Given the description of an element on the screen output the (x, y) to click on. 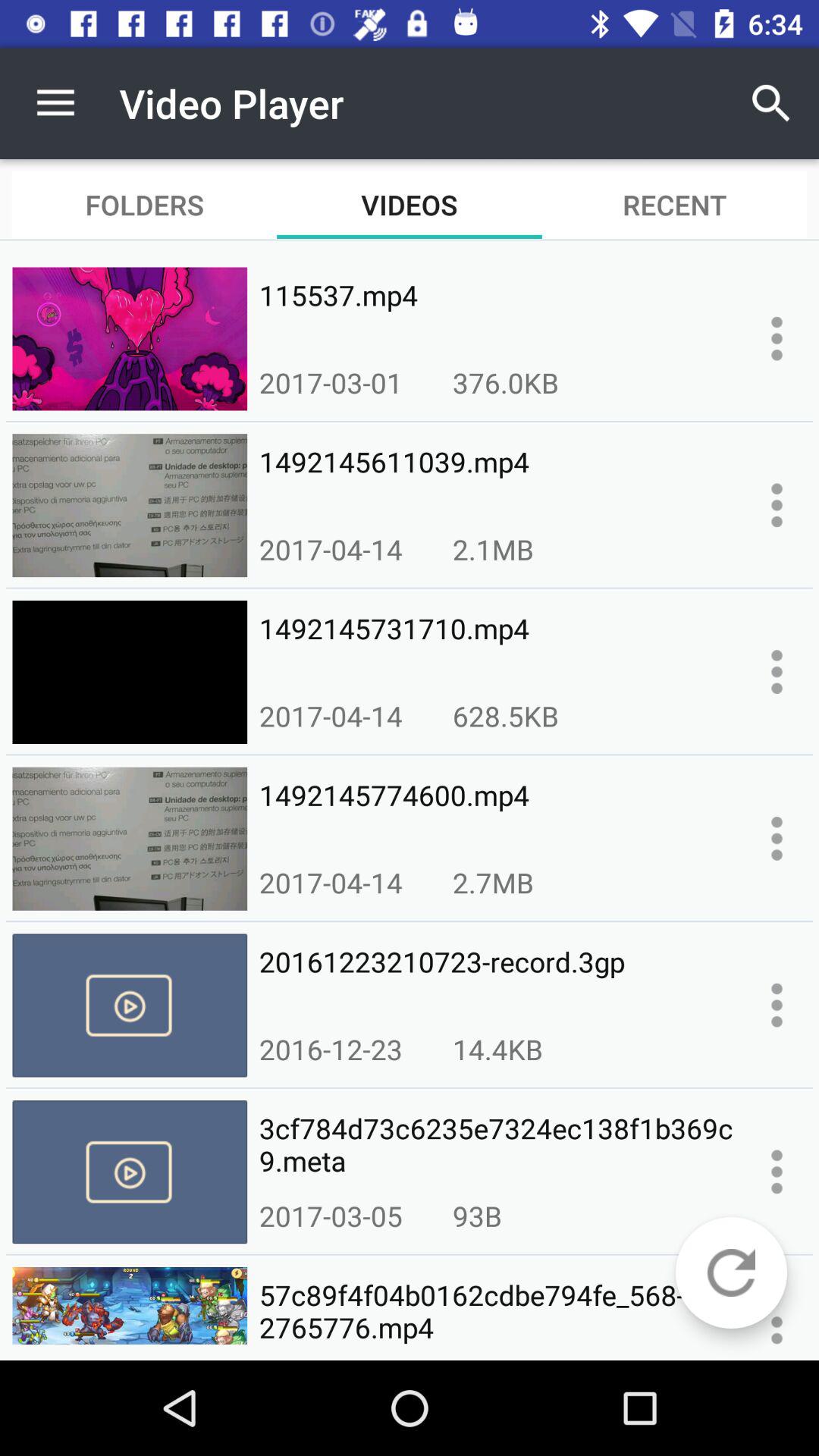
turn on icon below 2017-03-05 item (496, 1311)
